Given the description of an element on the screen output the (x, y) to click on. 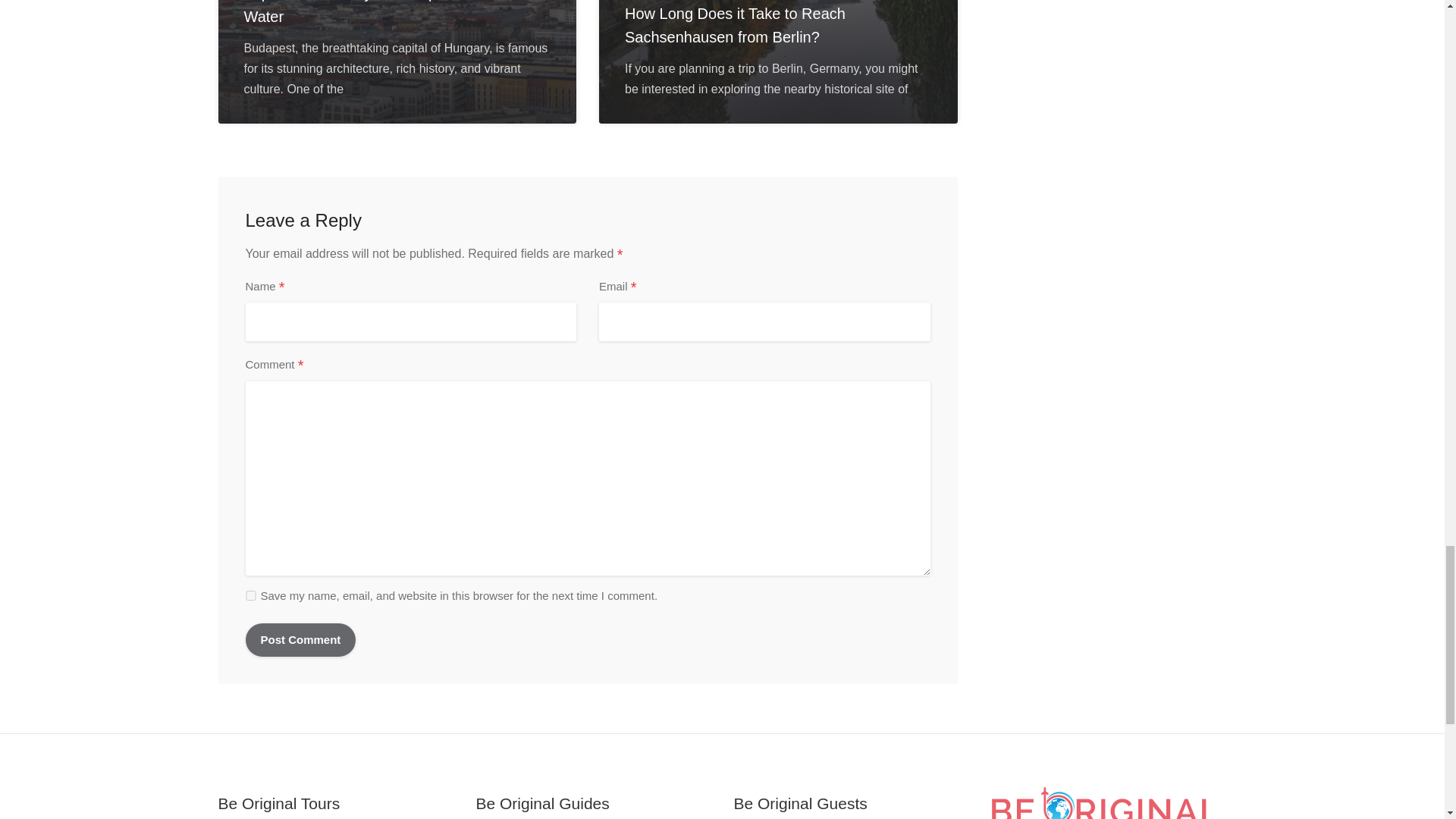
Post Comment (301, 639)
yes (251, 595)
Post Comment (301, 639)
